Given the description of an element on the screen output the (x, y) to click on. 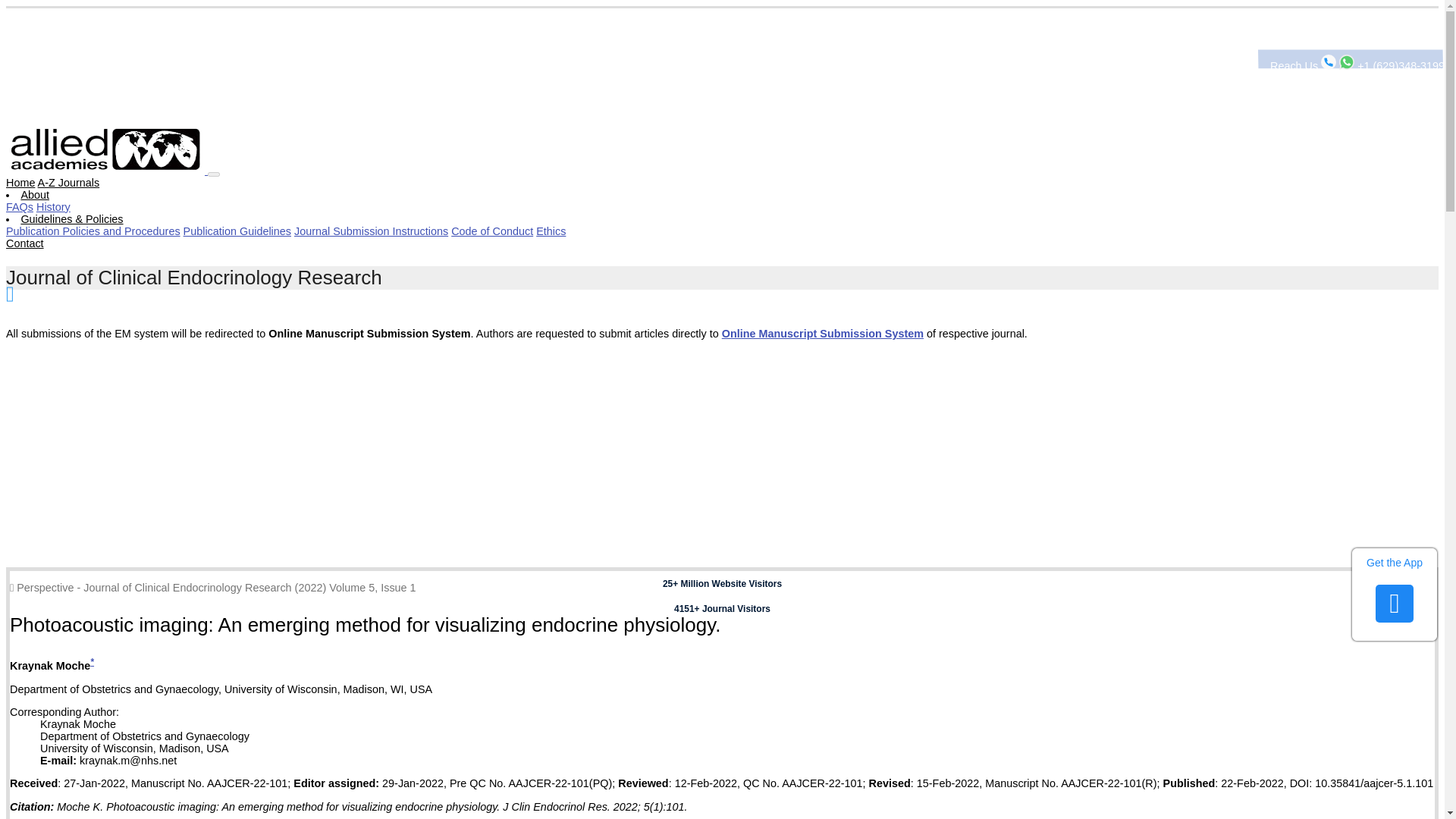
History (52, 206)
Publication Policies and Procedures (92, 231)
FAQs (19, 206)
A-Z Journals (68, 182)
A-Z Journals (68, 182)
Code of Conduct (491, 231)
Contact (24, 243)
Publication Guidelines (237, 231)
Online Manuscript Submission System (822, 333)
FAQs (19, 206)
Contact (24, 243)
Publication Policies and Procedures (92, 231)
Publication Guidelines (237, 231)
Home (19, 182)
